Given the description of an element on the screen output the (x, y) to click on. 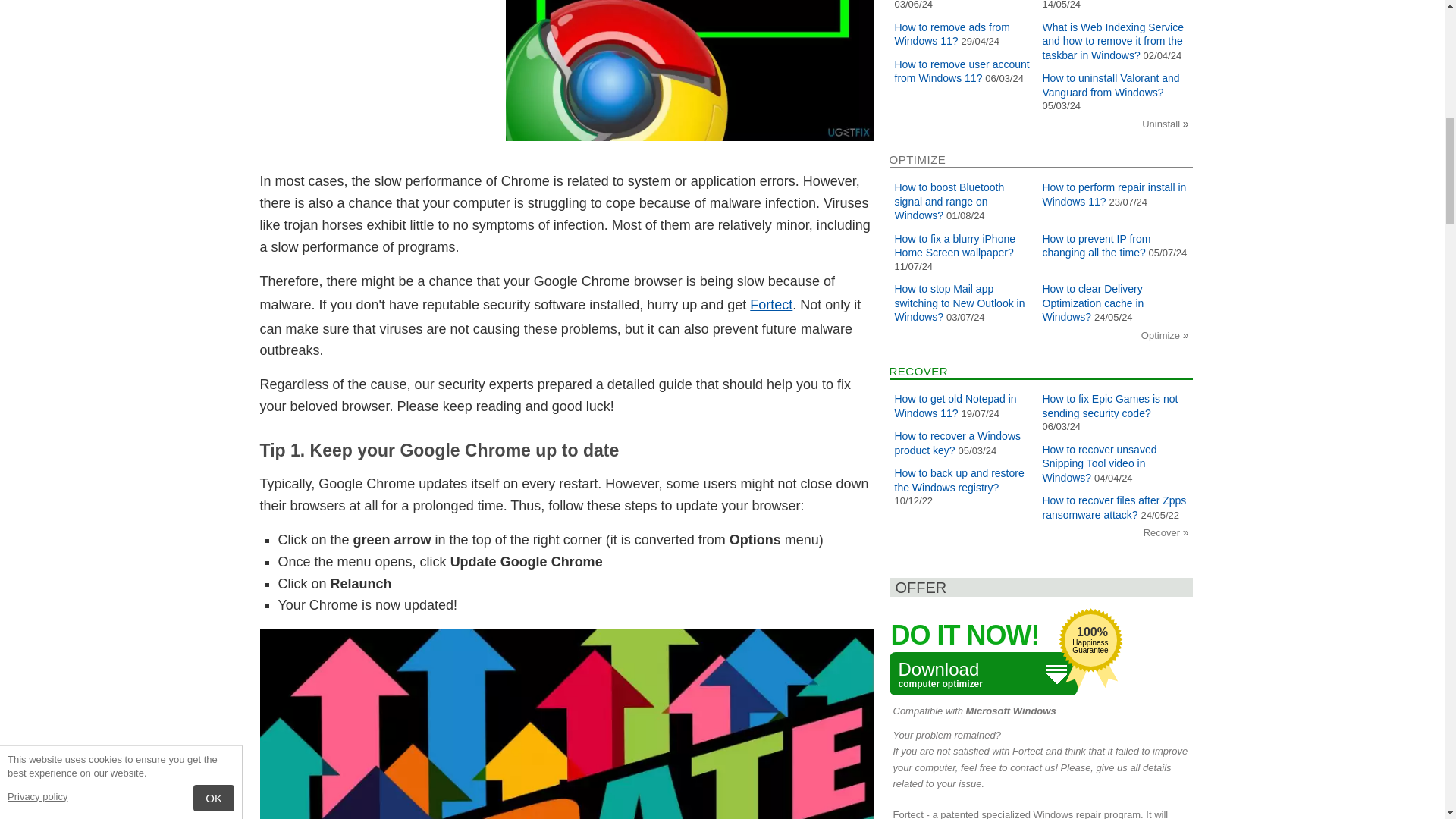
Fortect (770, 304)
Google Chrome update (566, 723)
Google Chrome is slow (689, 70)
